Given the description of an element on the screen output the (x, y) to click on. 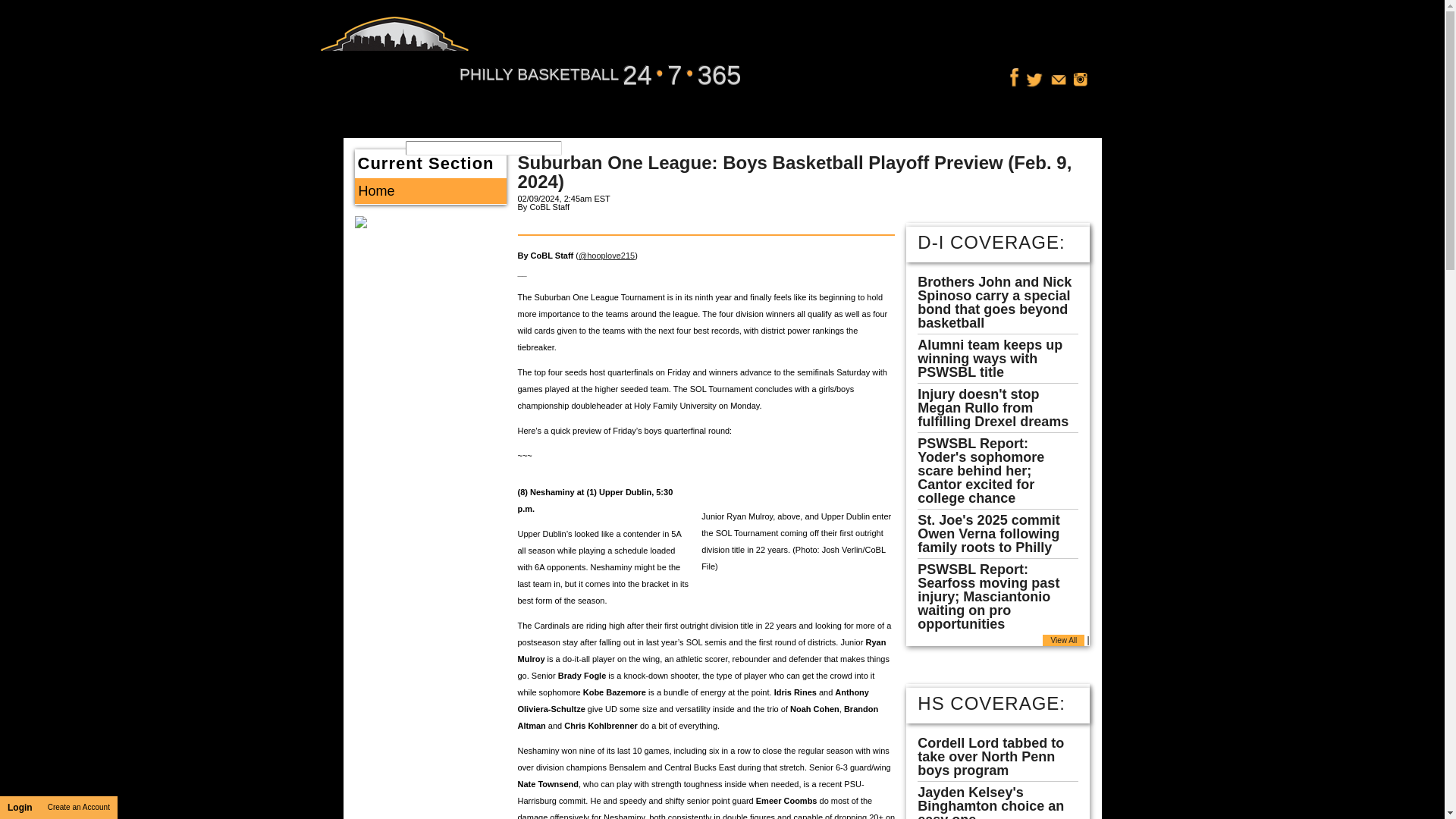
Create an Account (78, 807)
Alumni team keeps up winning ways with PSWSBL title (989, 358)
Home (430, 190)
View All (1063, 640)
click to go to 'Home' (430, 190)
View All (1063, 640)
Create an Account (78, 807)
